Given the description of an element on the screen output the (x, y) to click on. 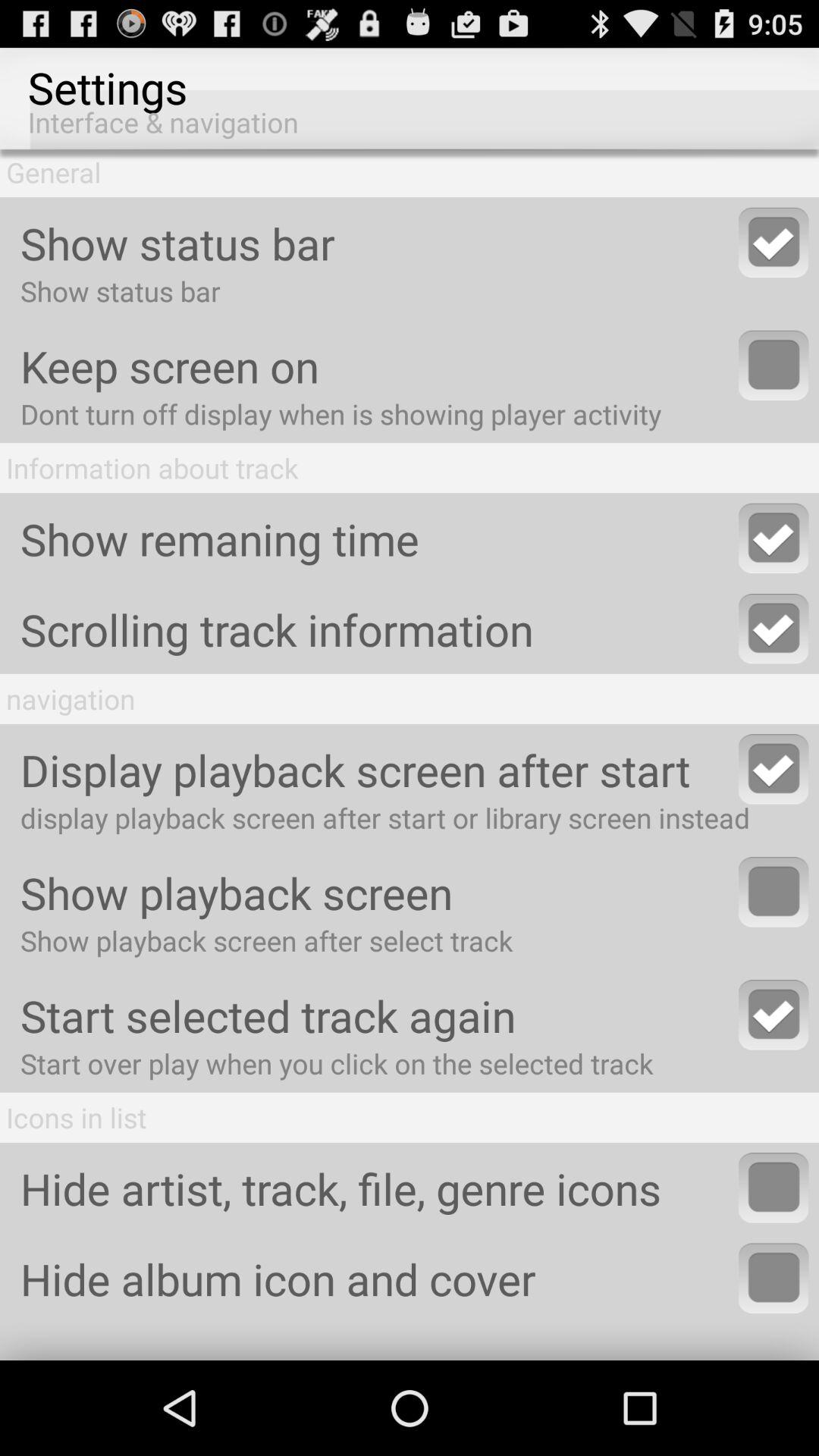
enable show remaining time feature (773, 538)
